Given the description of an element on the screen output the (x, y) to click on. 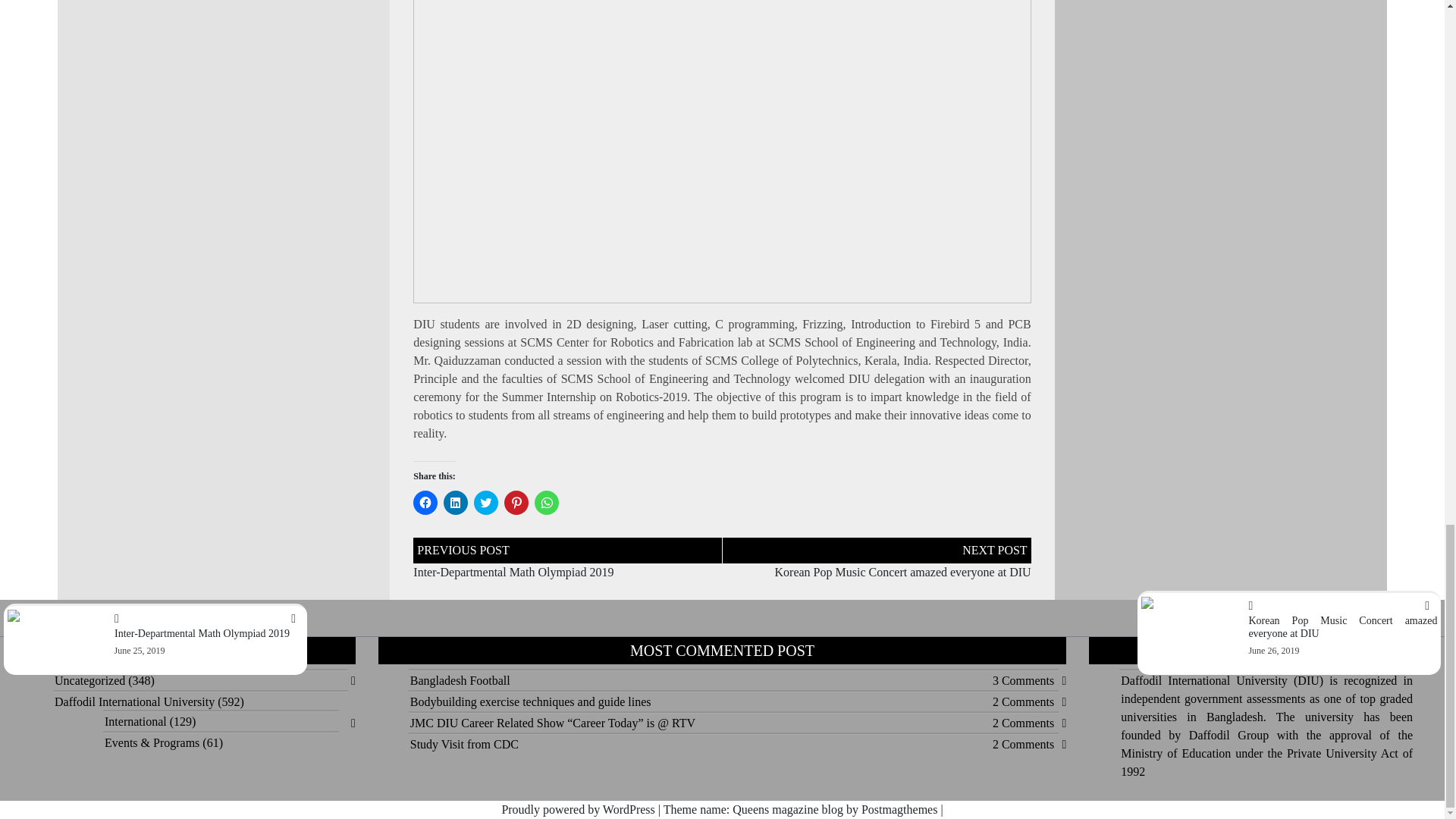
Click to share on WhatsApp (546, 502)
Click to share on Twitter (485, 502)
Click to share on LinkedIn (455, 502)
Click to share on Pinterest (515, 502)
Click to share on Facebook (425, 502)
